Given the description of an element on the screen output the (x, y) to click on. 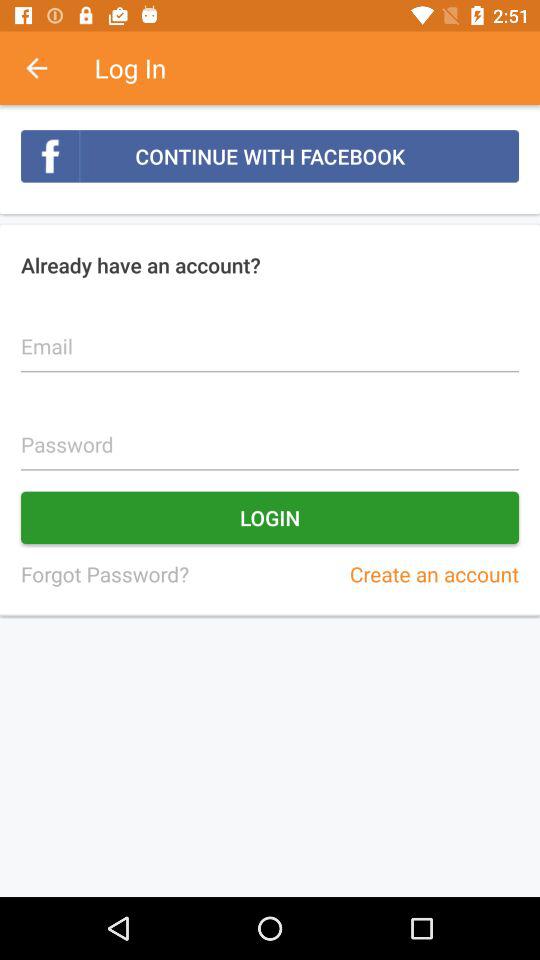
enter text into field (270, 335)
